Given the description of an element on the screen output the (x, y) to click on. 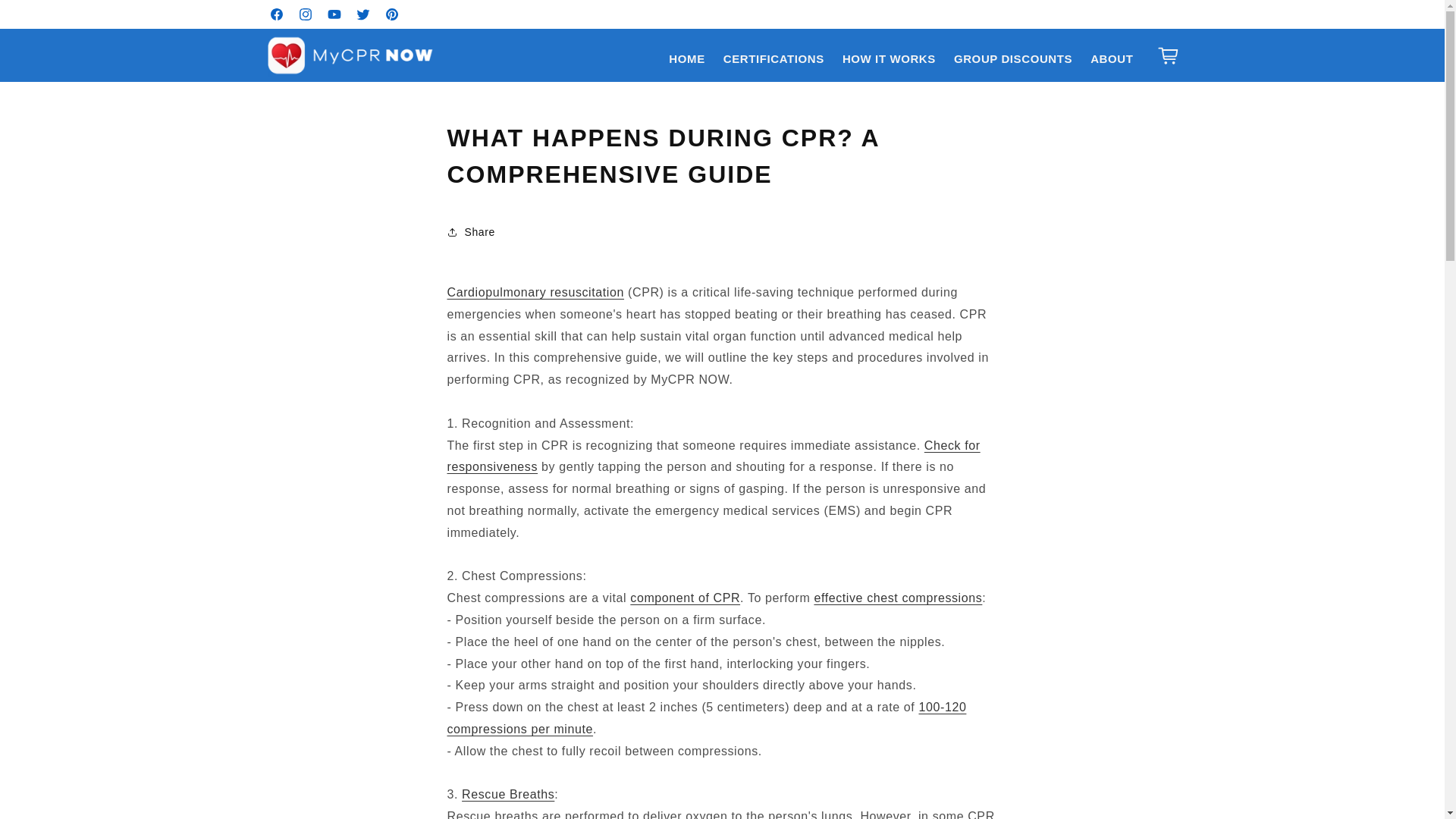
100-120 compressions per minute (706, 718)
GROUP DISCOUNTS (1012, 59)
Check for responsiveness (712, 456)
component of CPR (684, 597)
CPR Certification (535, 291)
Instagram (305, 14)
Twitter (363, 14)
How Many Chest Compressions Per Minute?  (706, 718)
HOW IT WORKS (888, 59)
Pinterest (391, 14)
Cart (1168, 55)
CERTIFICATIONS (773, 59)
Facebook (276, 14)
CPR Skills: A Vital Component of Emergency Response  (684, 597)
ABOUT (1111, 59)
